Given the description of an element on the screen output the (x, y) to click on. 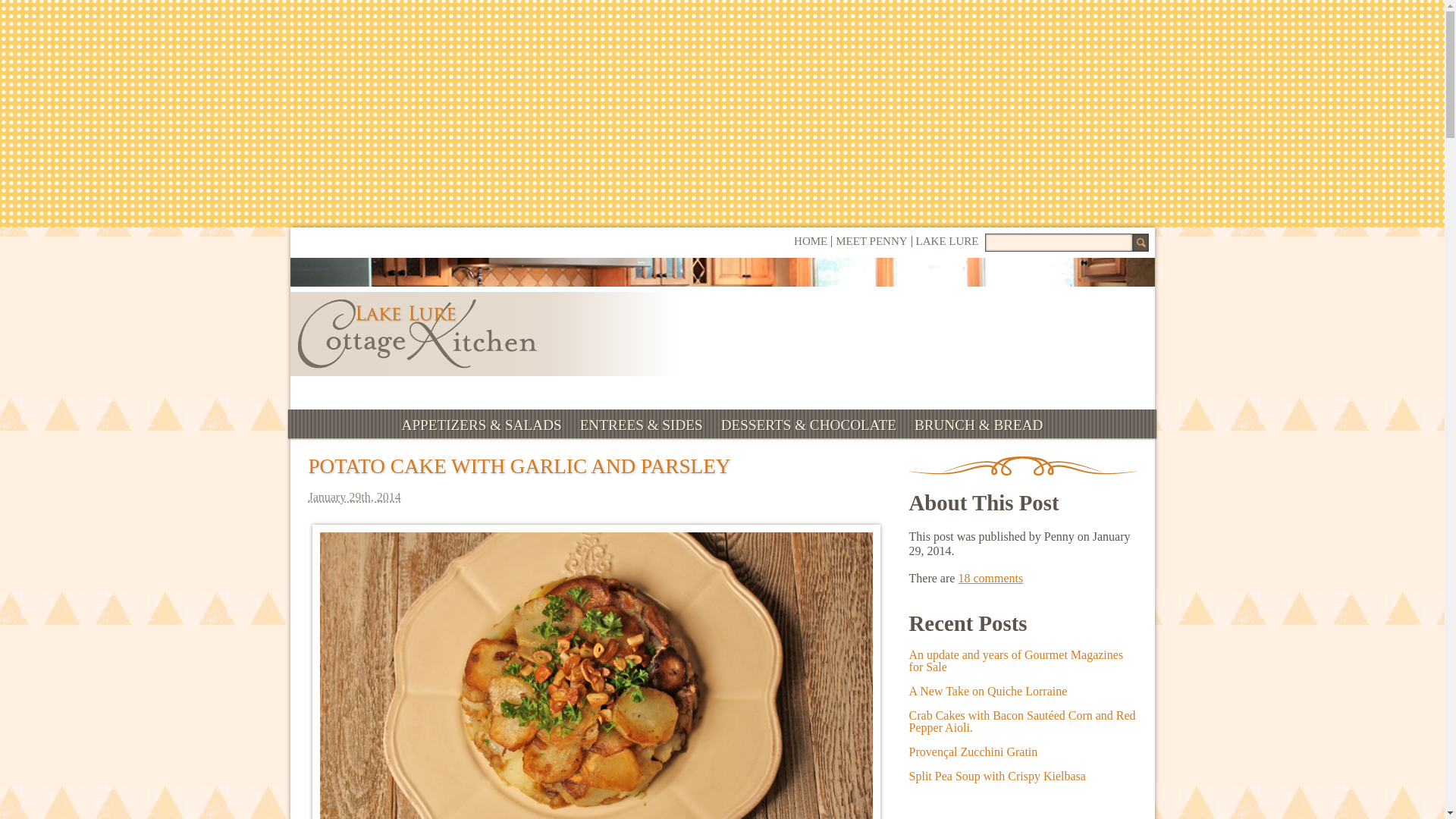
2014-01-29T07:36:31-05:00 (595, 497)
LAKE LURE (946, 241)
Search (1139, 242)
MEET PENNY (871, 241)
Lake Lure Cottage Kitchen (416, 333)
HOME (810, 241)
